Given the description of an element on the screen output the (x, y) to click on. 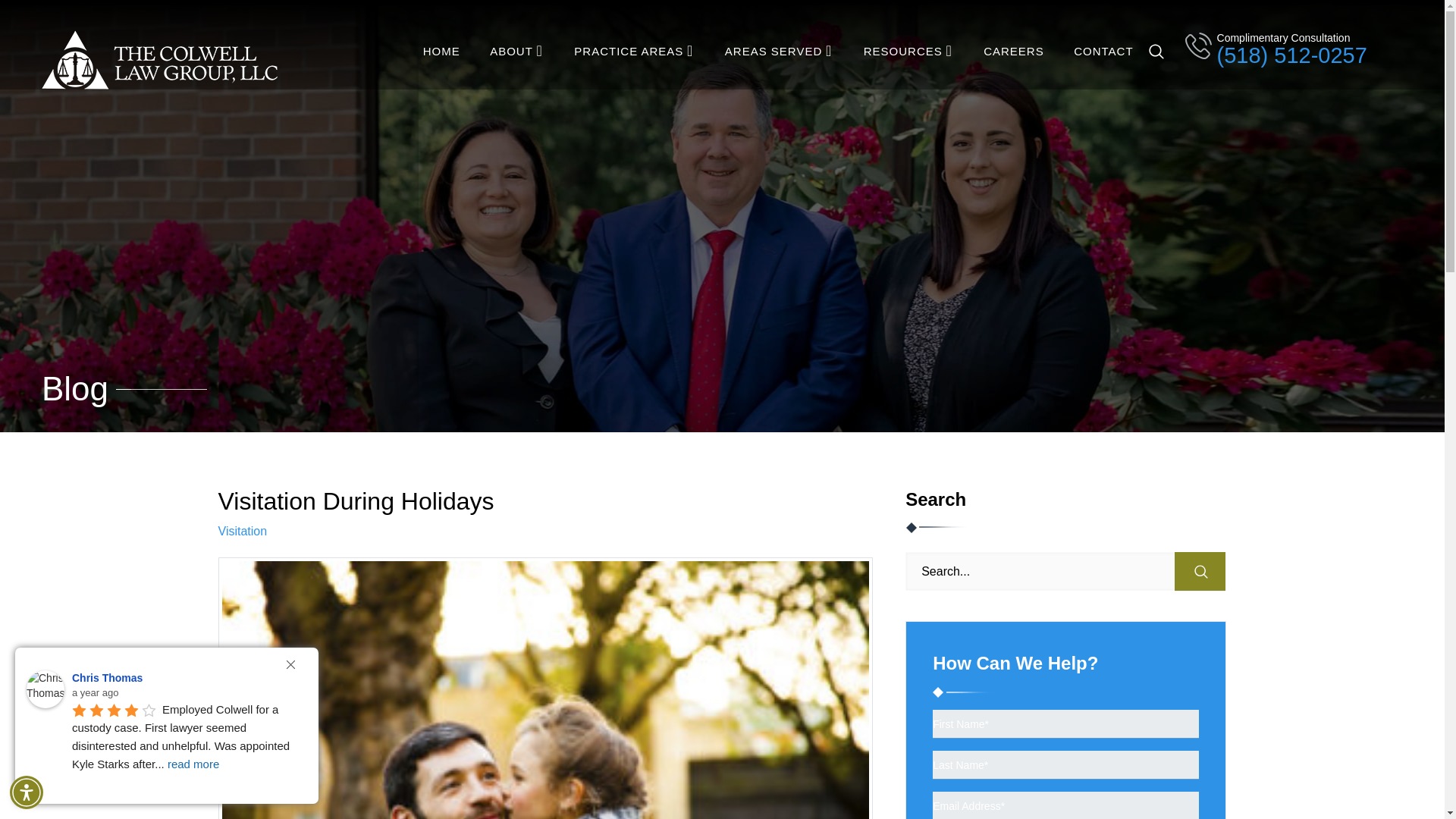
Accessibility Menu (26, 792)
ABOUT (510, 51)
Search Blog (1199, 571)
AREAS SERVED (773, 51)
Search Blog (1199, 571)
HOME (441, 51)
Chris Thomas (45, 689)
Search for: (1065, 571)
PRACTICE AREAS (627, 51)
